Given the description of an element on the screen output the (x, y) to click on. 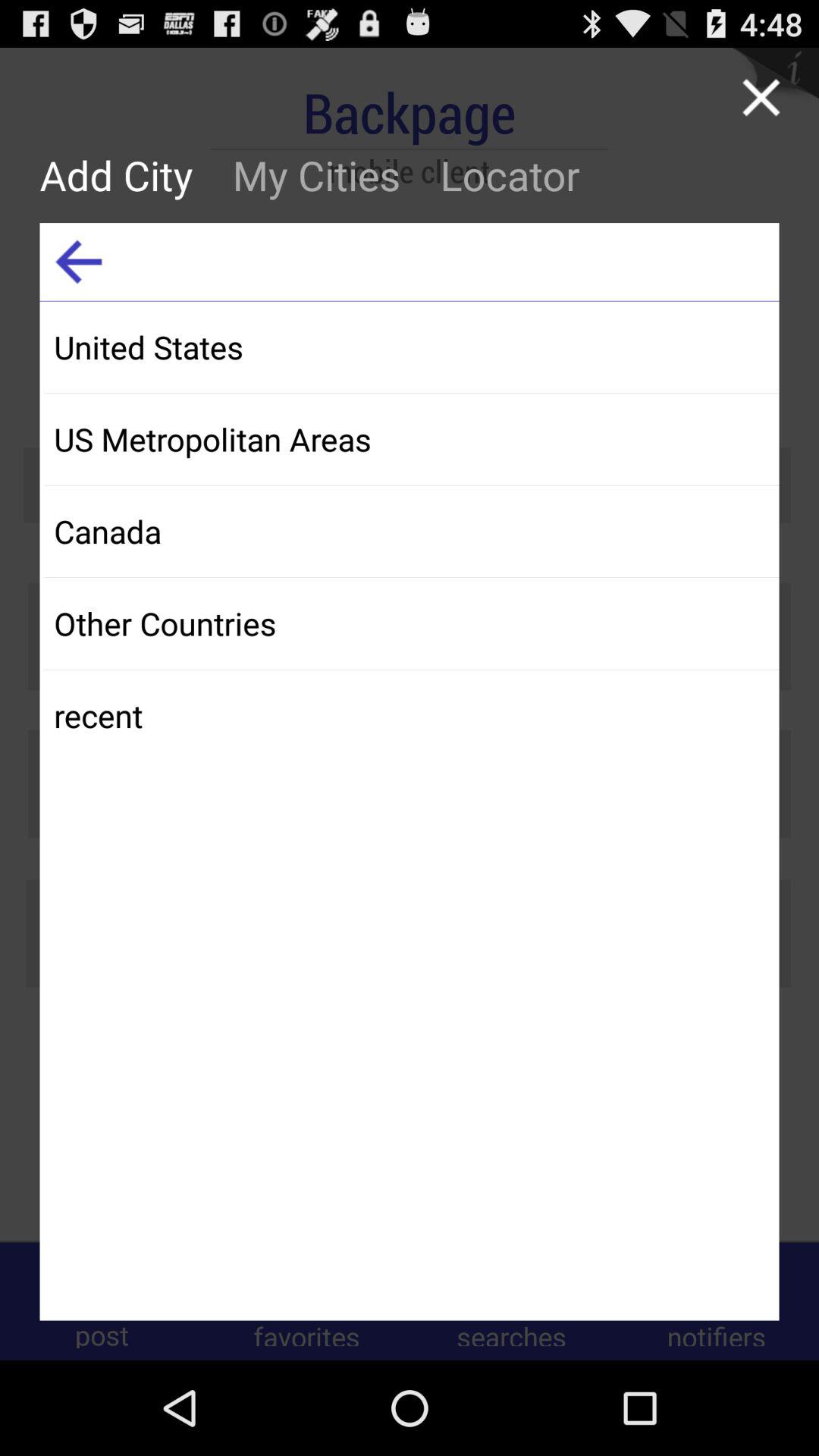
turn on us metropolitan areas app (411, 438)
